Given the description of an element on the screen output the (x, y) to click on. 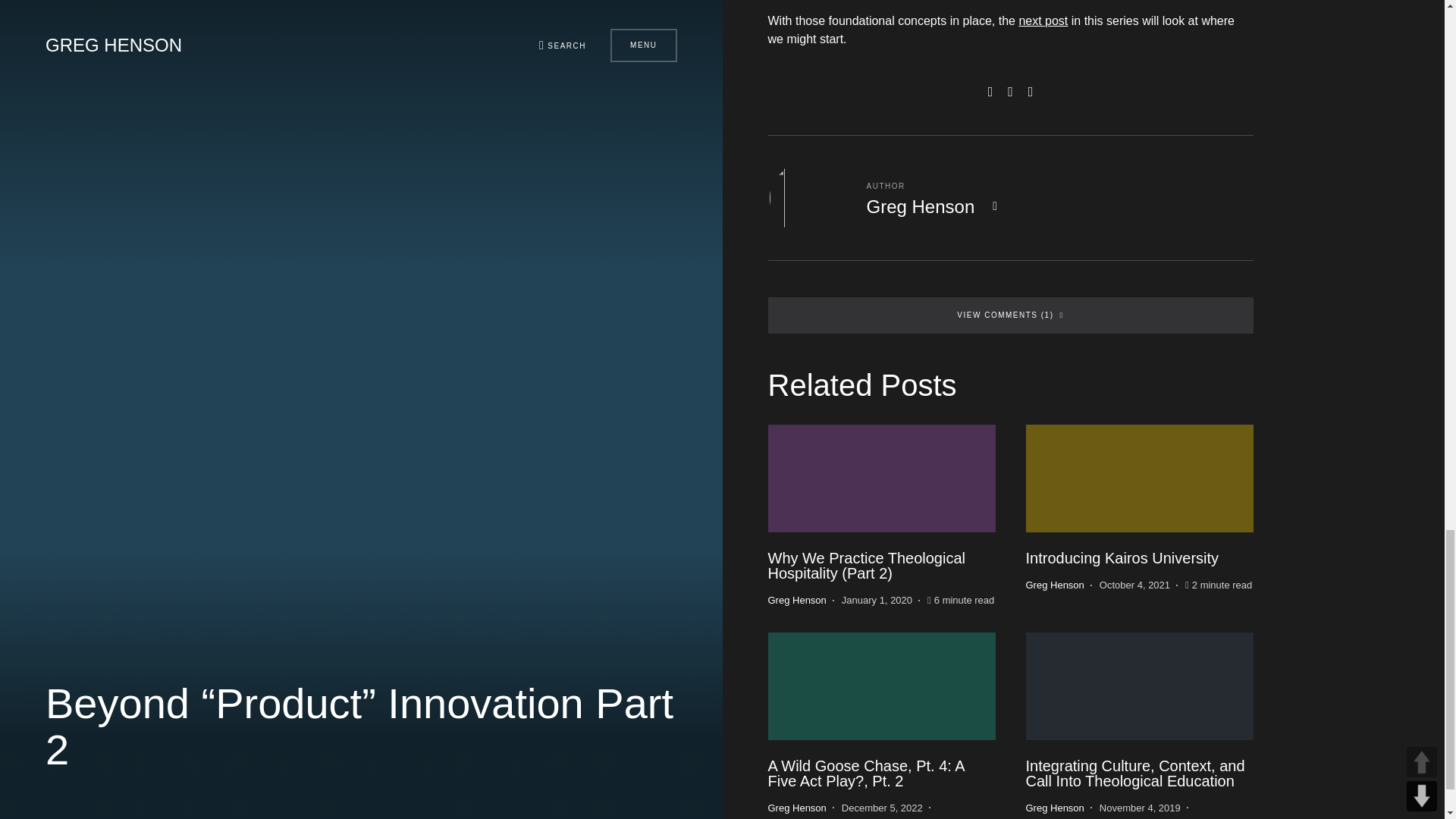
View all posts by Greg Henson (796, 807)
View all posts by Greg Henson (1054, 585)
next post (1042, 20)
View all posts by Greg Henson (796, 600)
View all posts by Greg Henson (1054, 807)
Greg Henson (920, 205)
Greg Henson (796, 600)
